Given the description of an element on the screen output the (x, y) to click on. 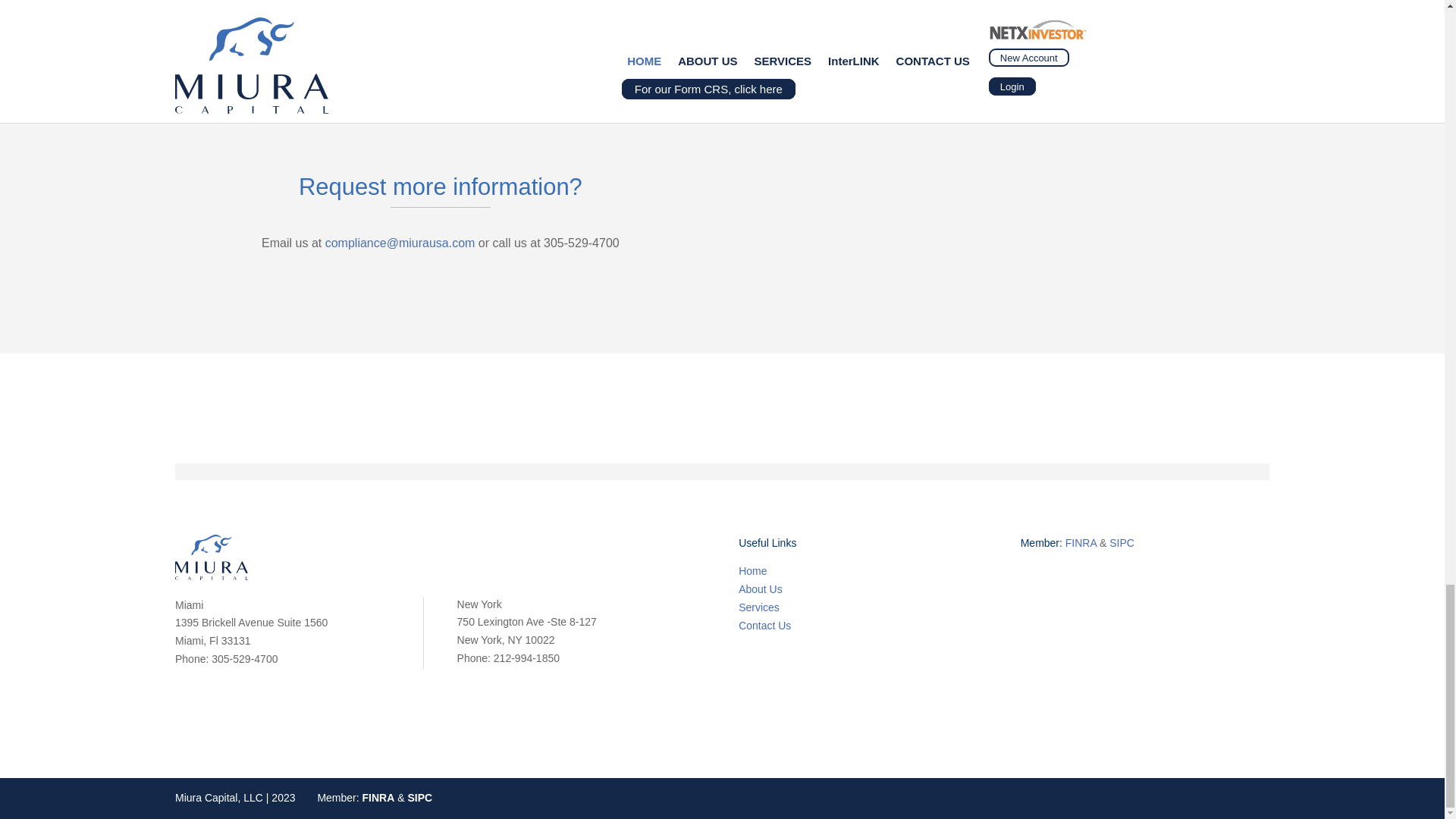
FINRA (1080, 542)
Contact Us (764, 625)
About Us (760, 589)
Home (752, 571)
SIPC (419, 797)
SIPC (1121, 542)
Services (758, 607)
FINRA (378, 797)
